Given the description of an element on the screen output the (x, y) to click on. 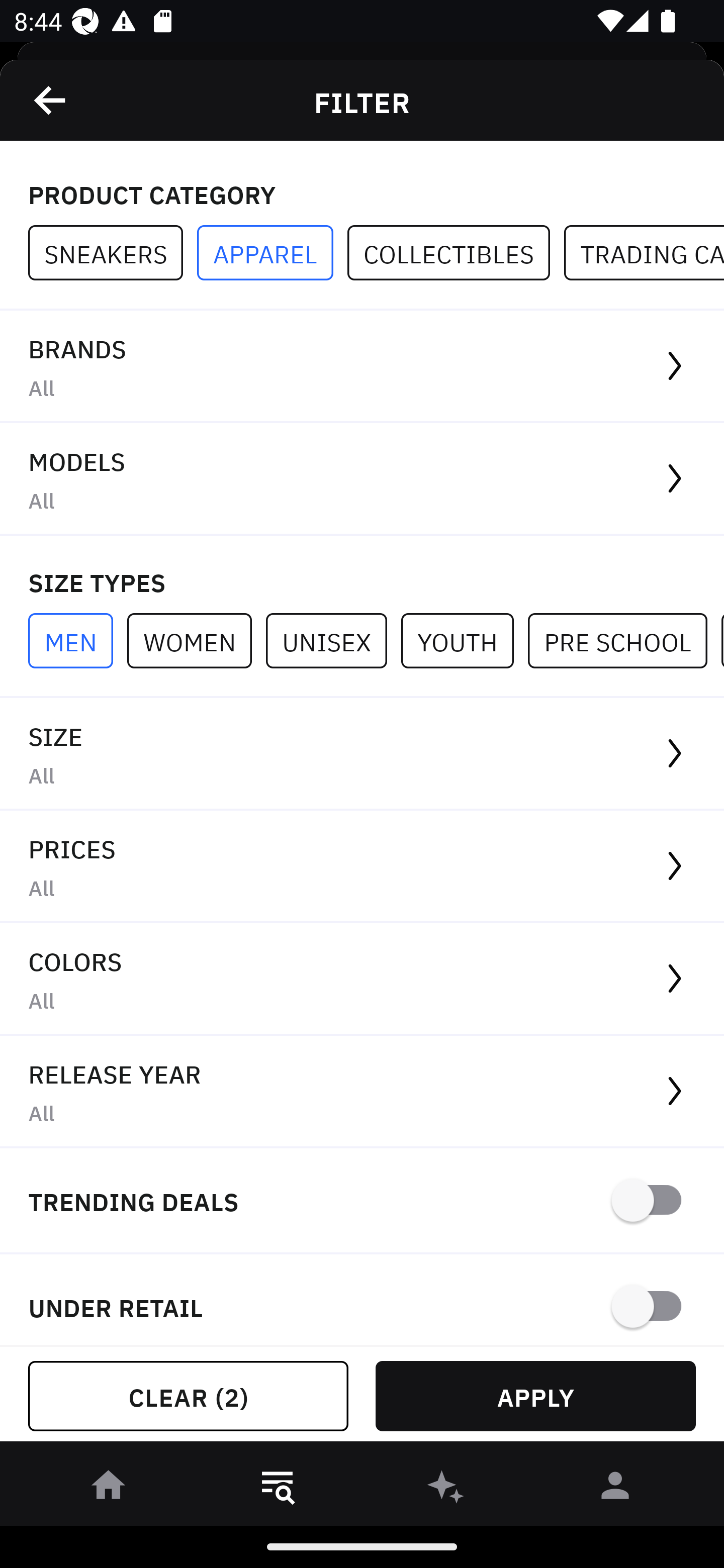
 (50, 100)
SNEAKERS (112, 252)
APPAREL (271, 252)
COLLECTIBLES (455, 252)
TRADING CARDS (643, 252)
BRANDS All (362, 366)
MODELS All (362, 479)
MEN (77, 640)
WOMEN (196, 640)
UNISEX (333, 640)
YOUTH (464, 640)
PRE SCHOOL (624, 640)
SIZE All (362, 753)
PRICES All (362, 866)
COLORS All (362, 979)
RELEASE YEAR All (362, 1091)
TRENDING DEALS (362, 1200)
UNDER RETAIL (362, 1299)
CLEAR (2) (188, 1396)
APPLY (535, 1396)
󰋜 (108, 1488)
󱎸 (277, 1488)
󰫢 (446, 1488)
󰀄 (615, 1488)
